Given the description of an element on the screen output the (x, y) to click on. 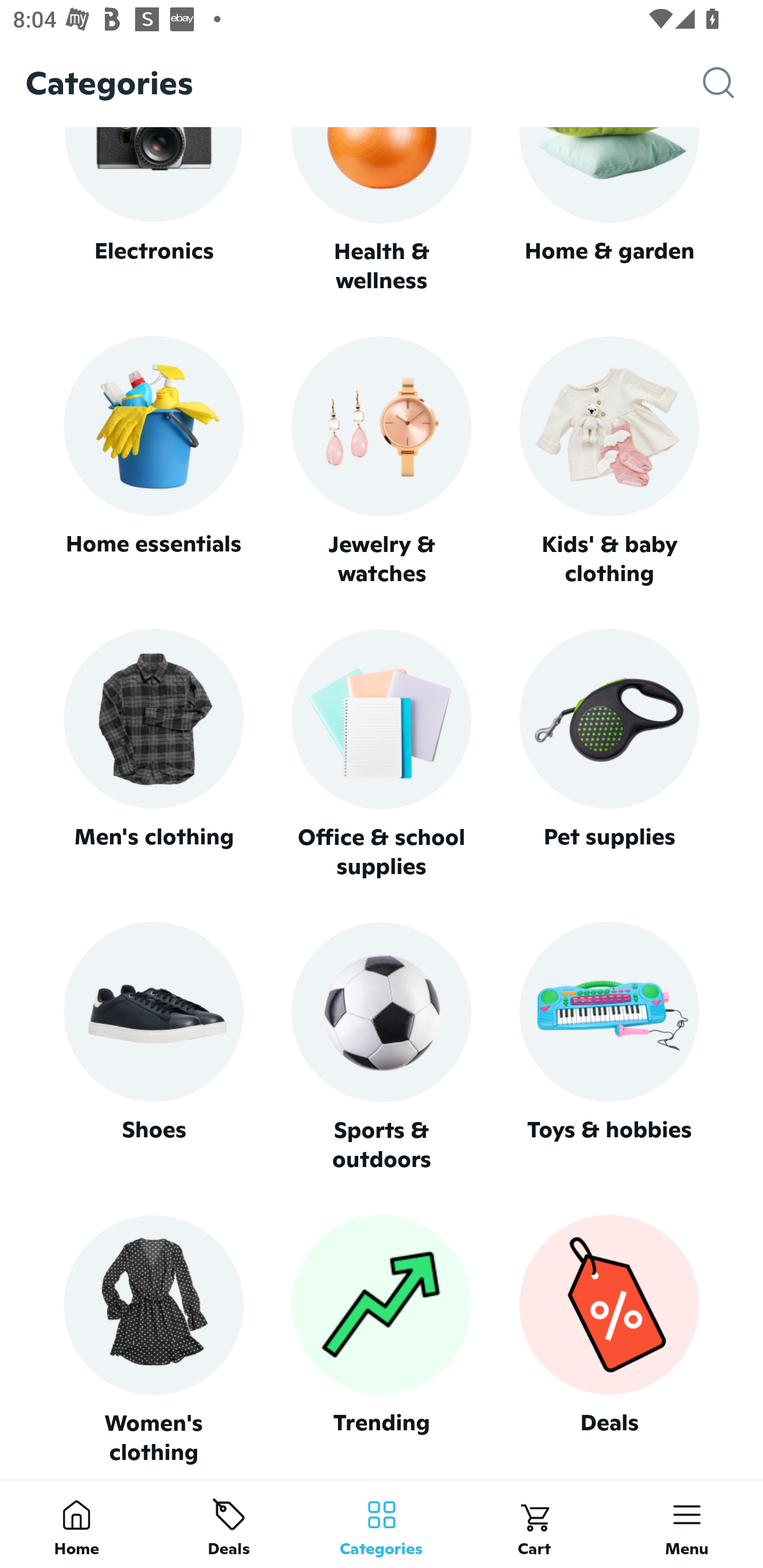
Search (732, 82)
Electronics (153, 210)
Health & wellness (381, 210)
Home & garden (609, 210)
Home essentials (153, 461)
Jewelry & watches (381, 462)
Kids' & baby clothing (609, 462)
Men's clothing (153, 753)
Pet supplies (609, 753)
Office & school supplies (381, 753)
Shoes (153, 1046)
Toys & hobbies (609, 1046)
Sports & outdoors (381, 1046)
Trending (381, 1340)
Deals (609, 1340)
Women's clothing (153, 1340)
Home (76, 1523)
Deals (228, 1523)
Categories (381, 1523)
Cart (533, 1523)
Menu (686, 1523)
